Given the description of an element on the screen output the (x, y) to click on. 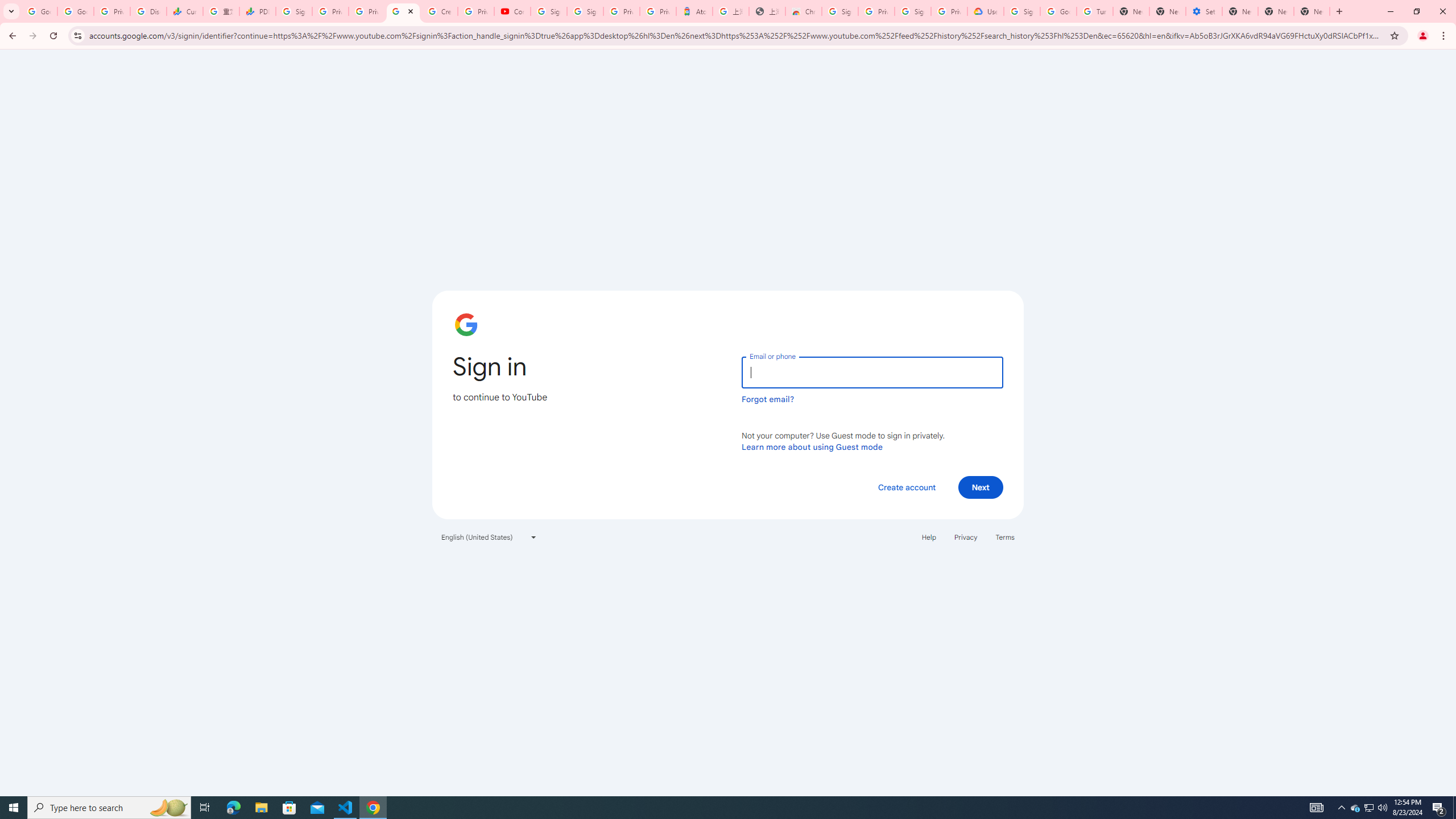
Create account (905, 486)
Atour Hotel - Google hotels (694, 11)
Forgot email? (767, 398)
Google Account Help (1058, 11)
Sign in - Google Accounts (1021, 11)
Next (980, 486)
Sign in - Google Accounts (548, 11)
Privacy Checkup (366, 11)
Chrome Web Store - Color themes by Chrome (803, 11)
